Given the description of an element on the screen output the (x, y) to click on. 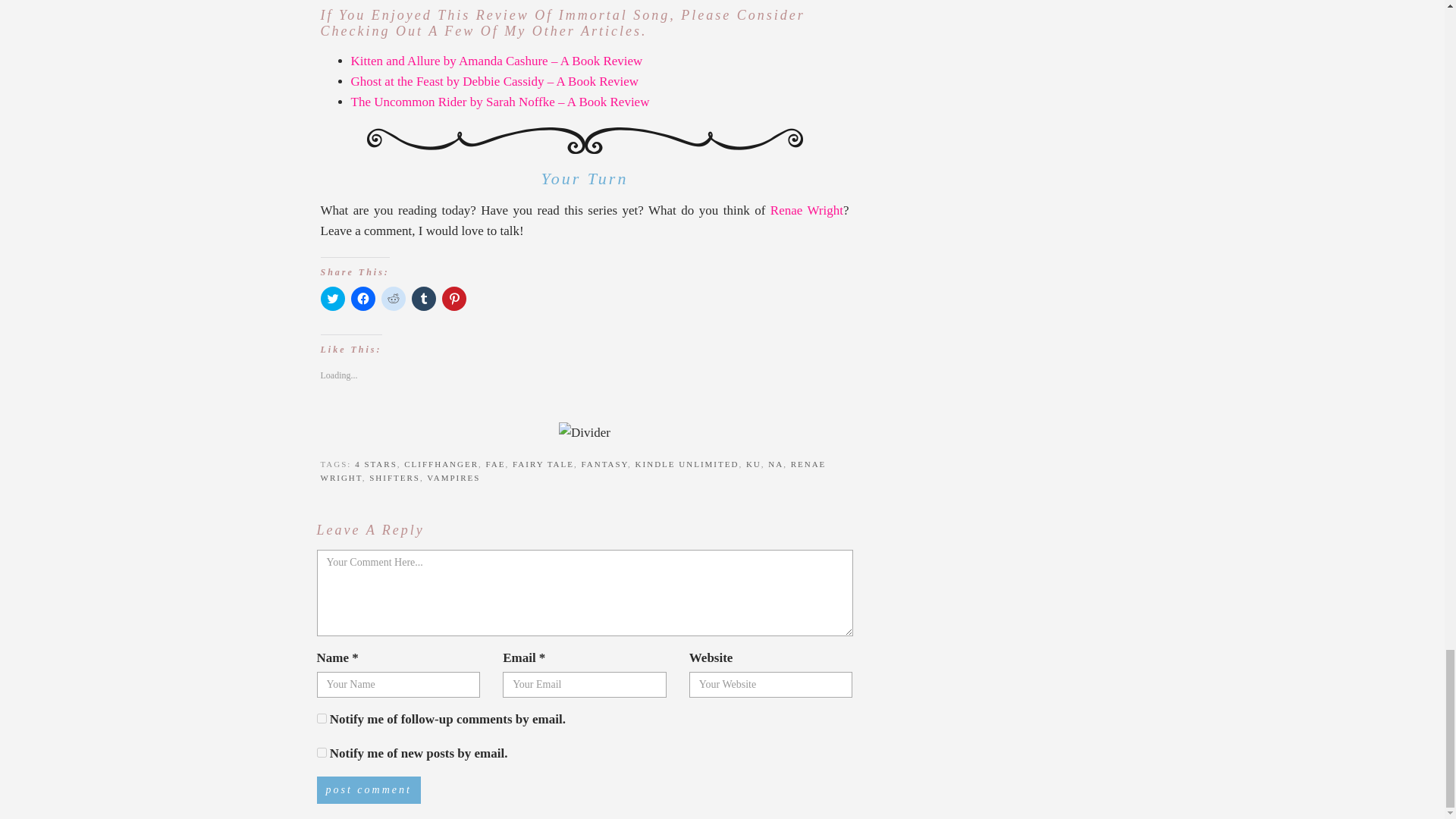
subscribe (321, 718)
subscribe (321, 752)
Post Comment (368, 789)
Click to share on Reddit (392, 298)
Click to share on Twitter (331, 298)
Click to share on Facebook (362, 298)
Click to share on Pinterest (453, 298)
Click to share on Tumblr (422, 298)
